Given the description of an element on the screen output the (x, y) to click on. 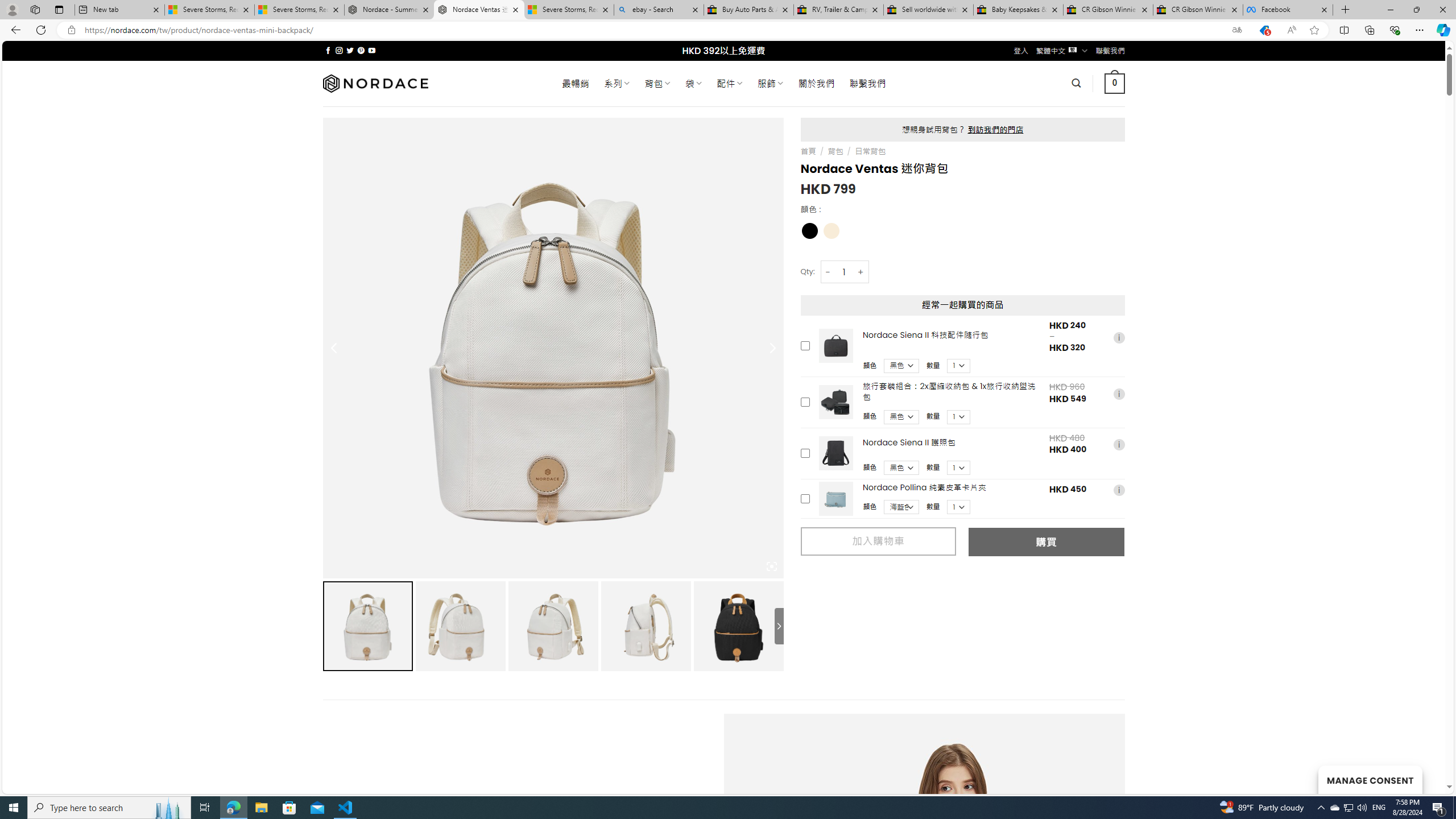
Add this product to cart (804, 498)
Class: iconic-woothumbs-fullscreen (771, 566)
 0  (1115, 83)
Follow on YouTube (371, 50)
Follow on Twitter (349, 50)
